Given the description of an element on the screen output the (x, y) to click on. 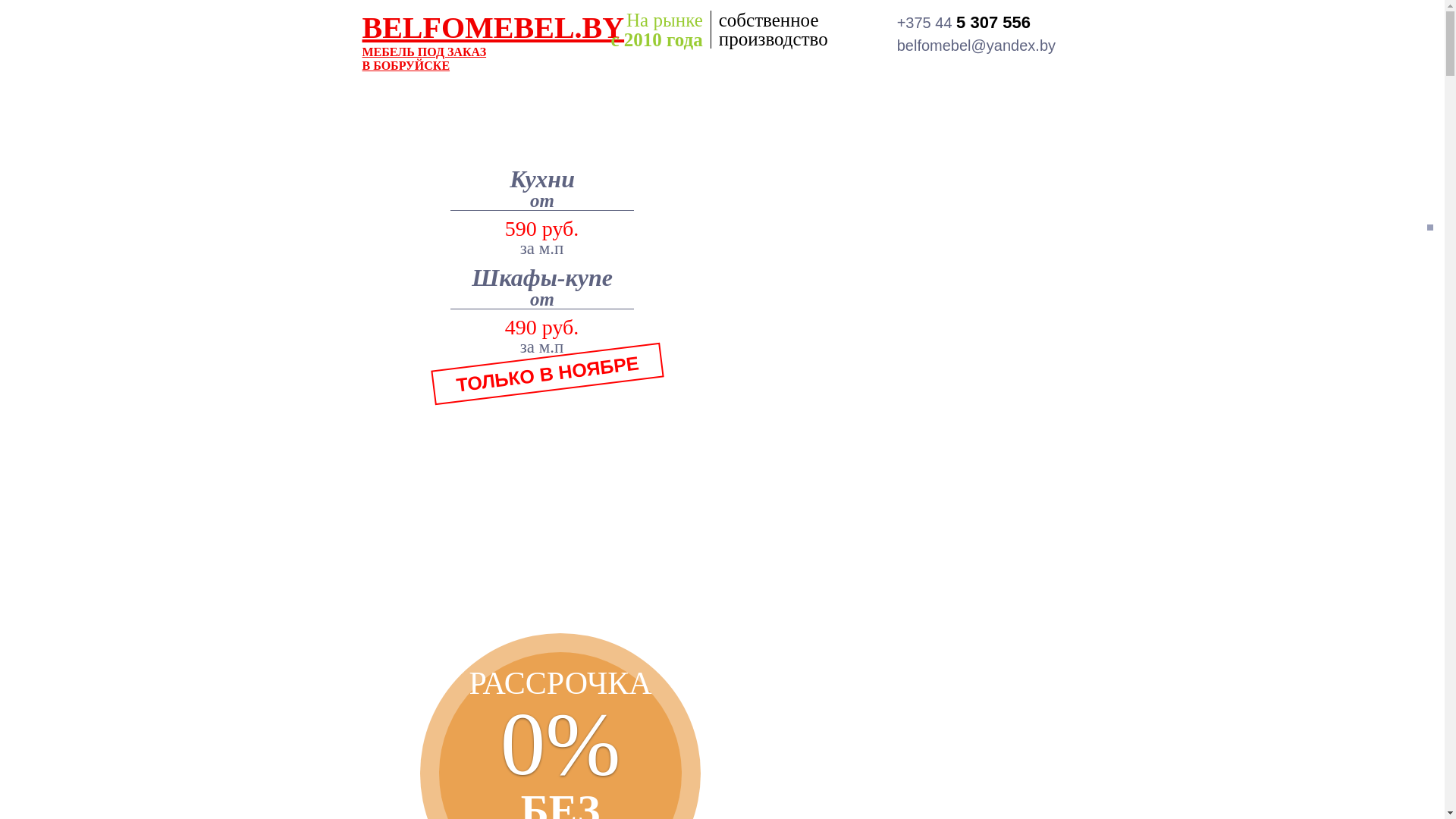
belfomebel@yandex.by Element type: text (976, 45)
BELFOMEBEL.BY Element type: text (493, 27)
